Given the description of an element on the screen output the (x, y) to click on. 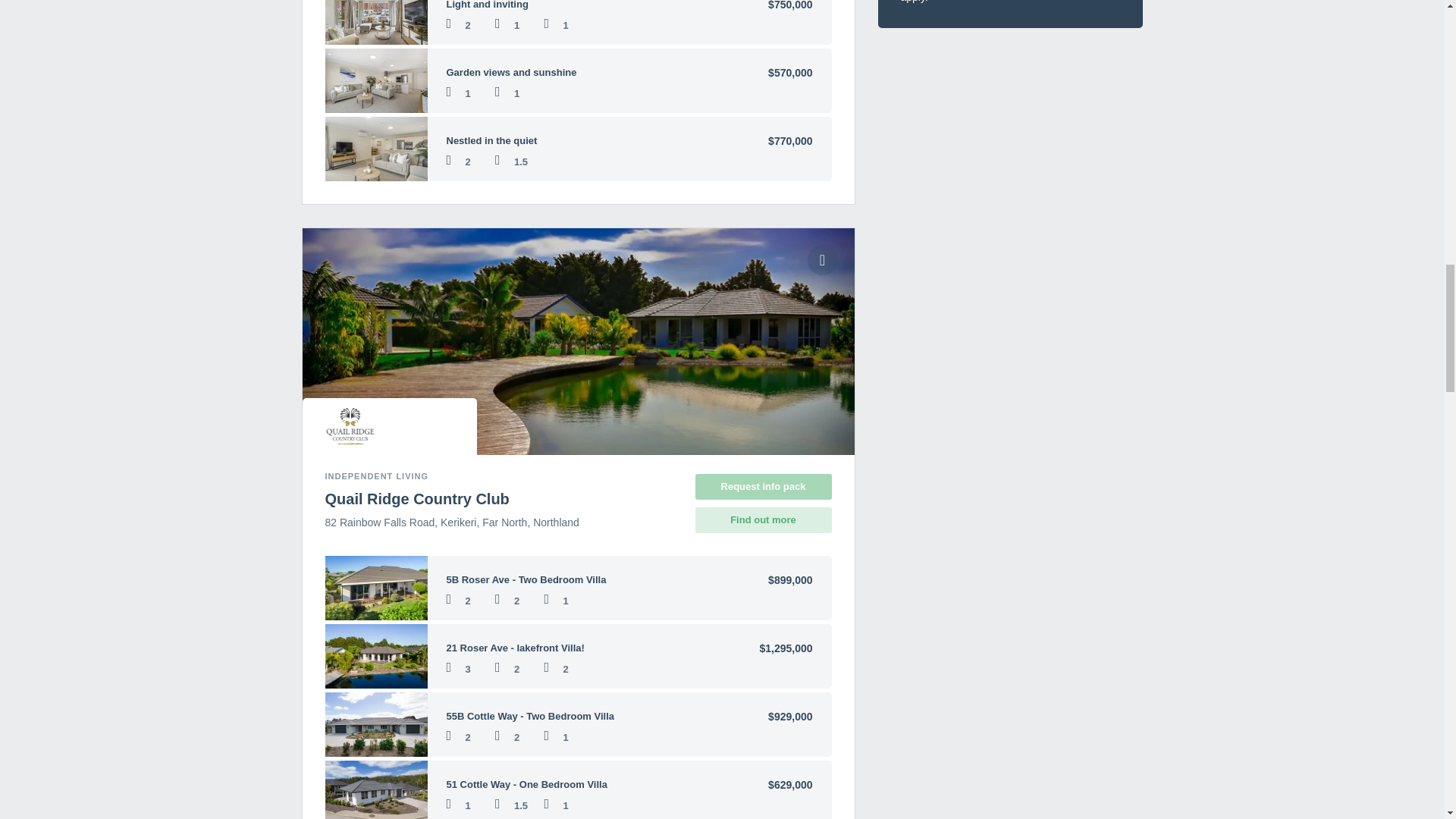
Quail Ridge Country Club logo (349, 426)
Favourite (821, 259)
